Given the description of an element on the screen output the (x, y) to click on. 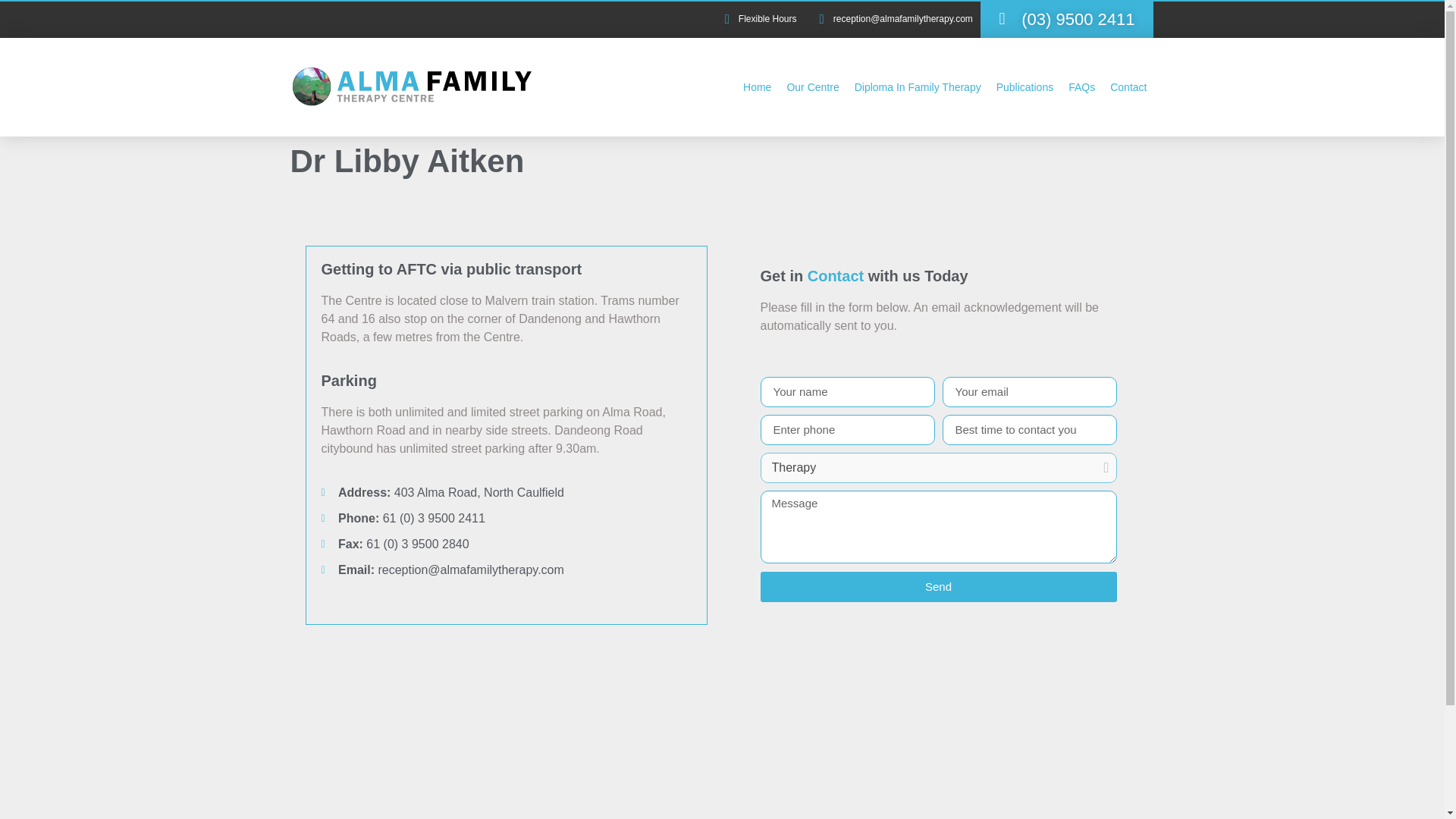
Send (938, 586)
Contact (1128, 87)
Publications (1024, 87)
FAQs (1081, 87)
Diploma In Family Therapy (917, 87)
Home (756, 87)
Our Centre (811, 87)
